Given the description of an element on the screen output the (x, y) to click on. 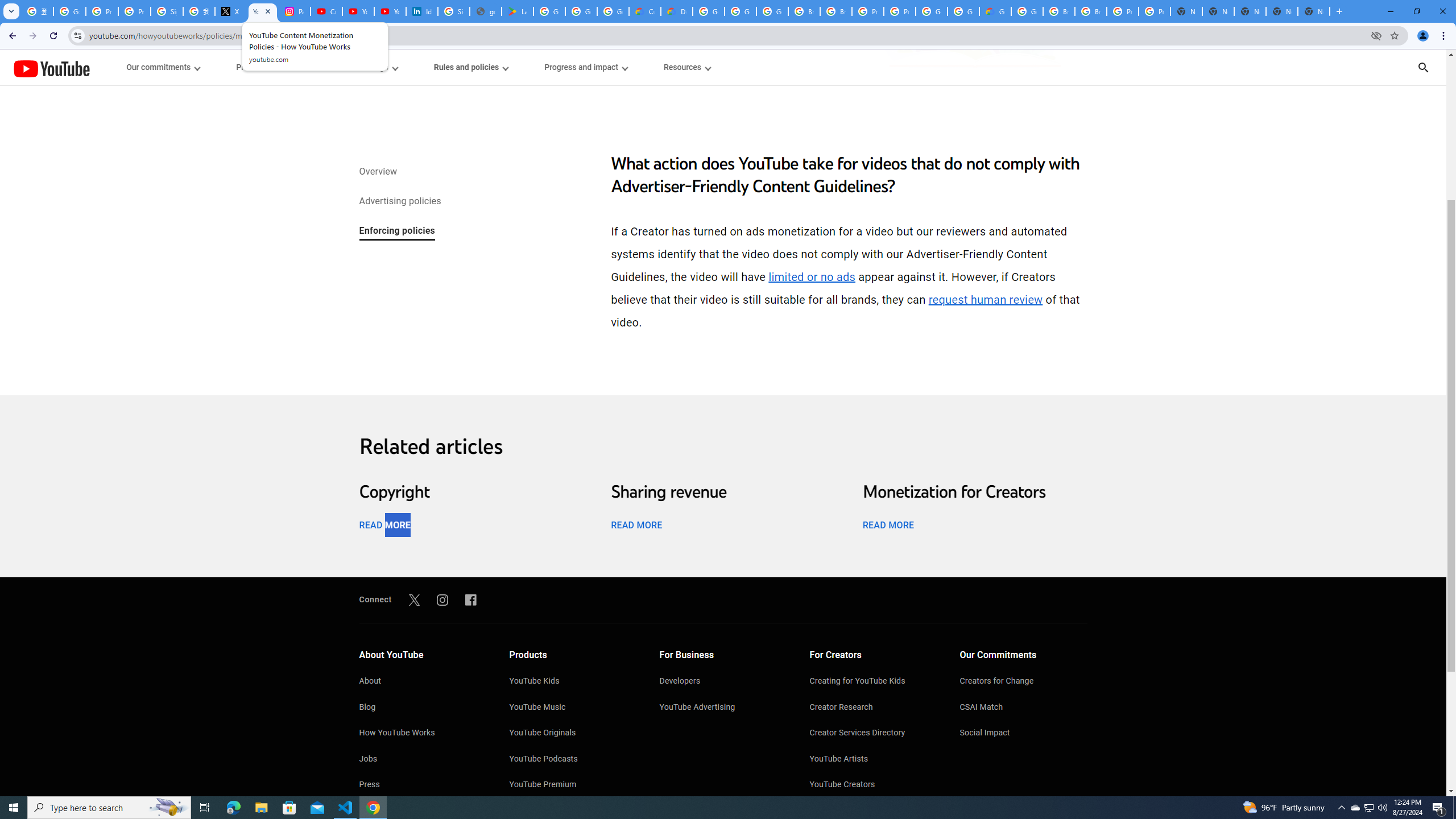
limited or no ads (812, 277)
Google Workspace - Specific Terms (613, 11)
Browse Chrome as a guest - Computer - Google Chrome Help (836, 11)
X (230, 11)
Reload (52, 35)
Back (10, 35)
JUMP TO CONTENT (118, 67)
Google Cloud Estimate Summary (995, 11)
Rules and policies menupopup (470, 67)
Blog (422, 708)
Google Cloud Platform (1027, 11)
Our commitments menupopup (163, 67)
Progress and impact menupopup (585, 67)
